Given the description of an element on the screen output the (x, y) to click on. 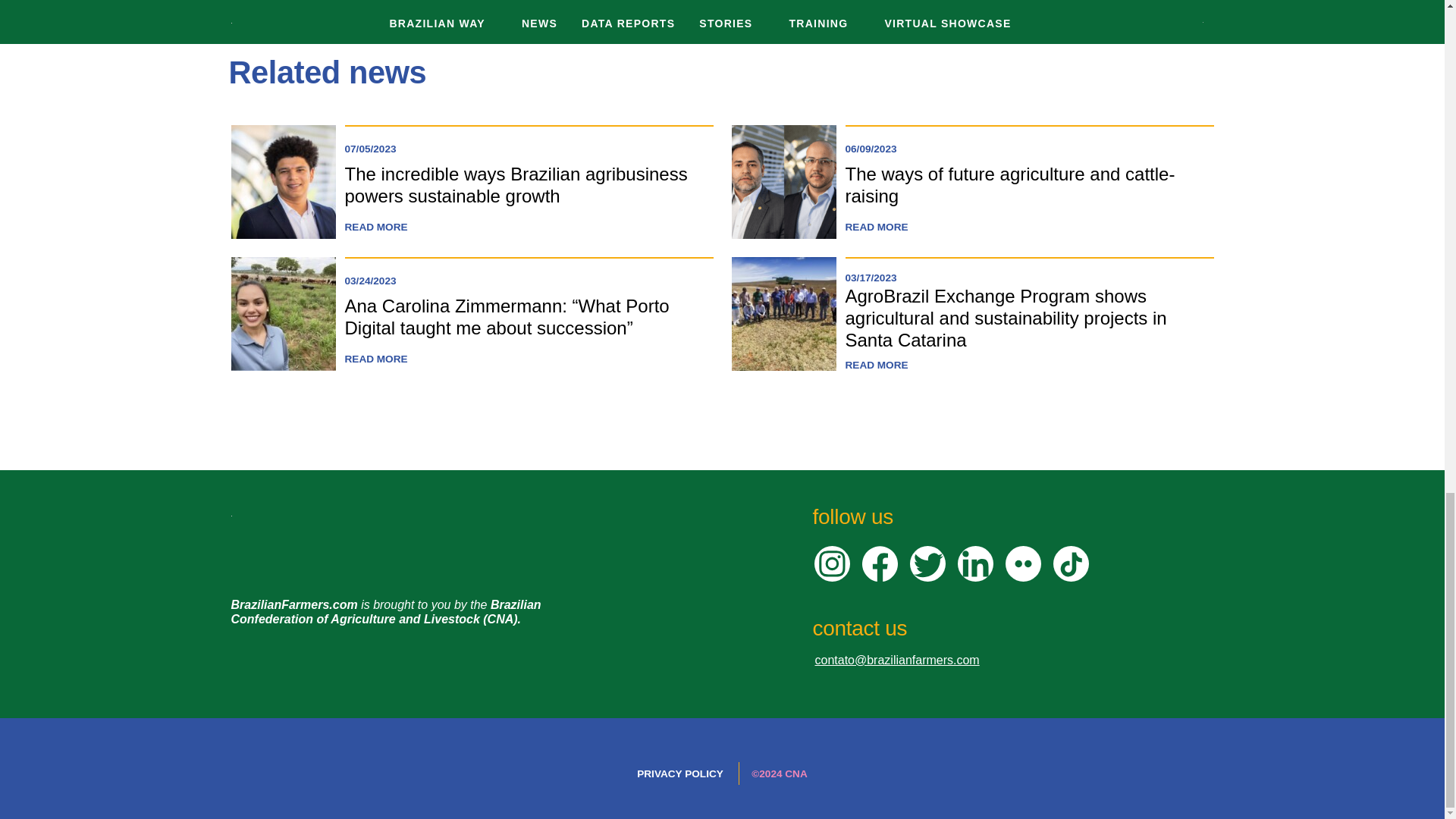
READ MORE (375, 359)
READ MORE (875, 365)
READ MORE (375, 227)
The ways of future agriculture and cattle-raising (1009, 184)
READ MORE (875, 227)
PRIVACY POLICY (680, 773)
